Given the description of an element on the screen output the (x, y) to click on. 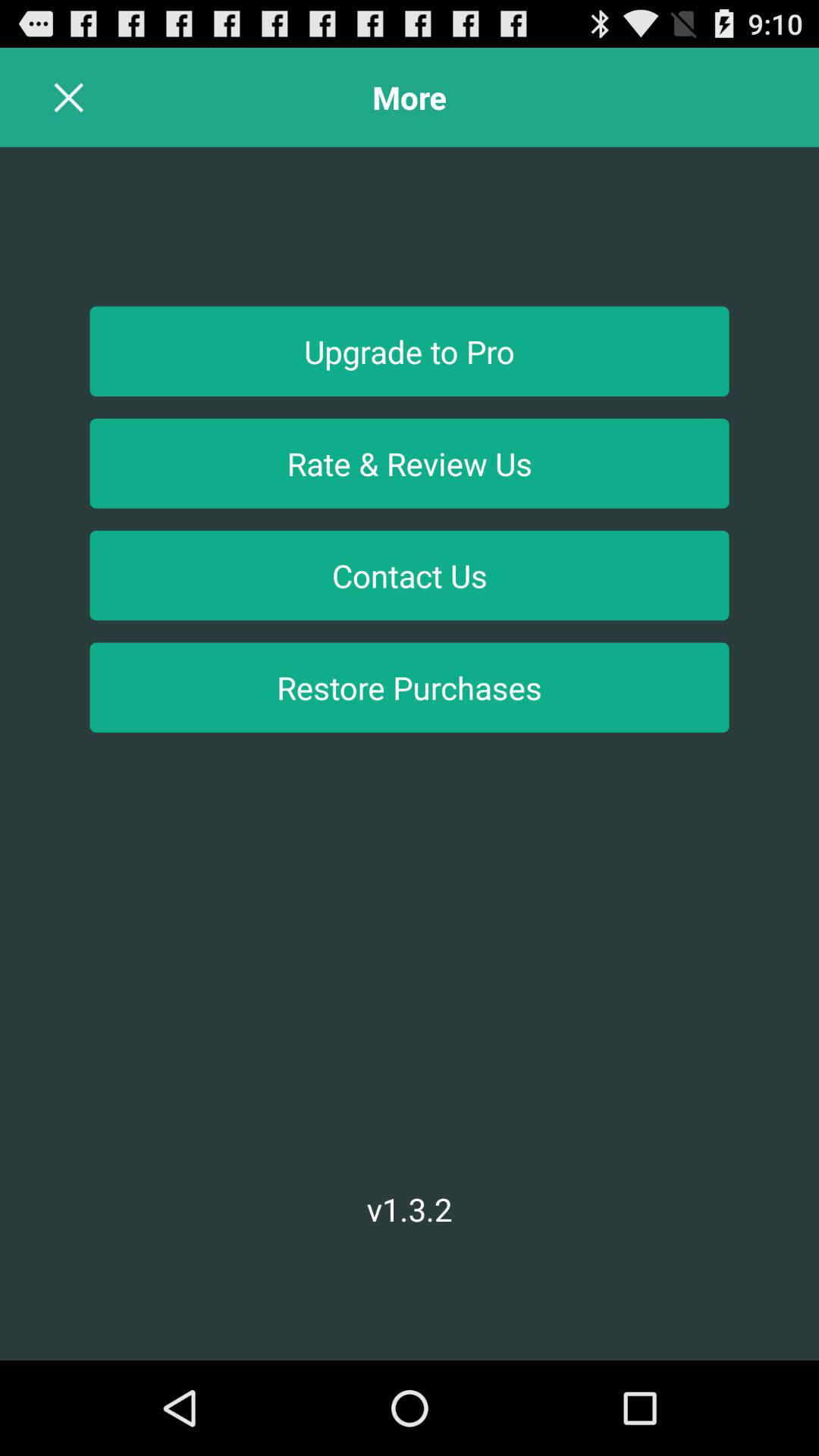
click item below rate & review us item (409, 575)
